Given the description of an element on the screen output the (x, y) to click on. 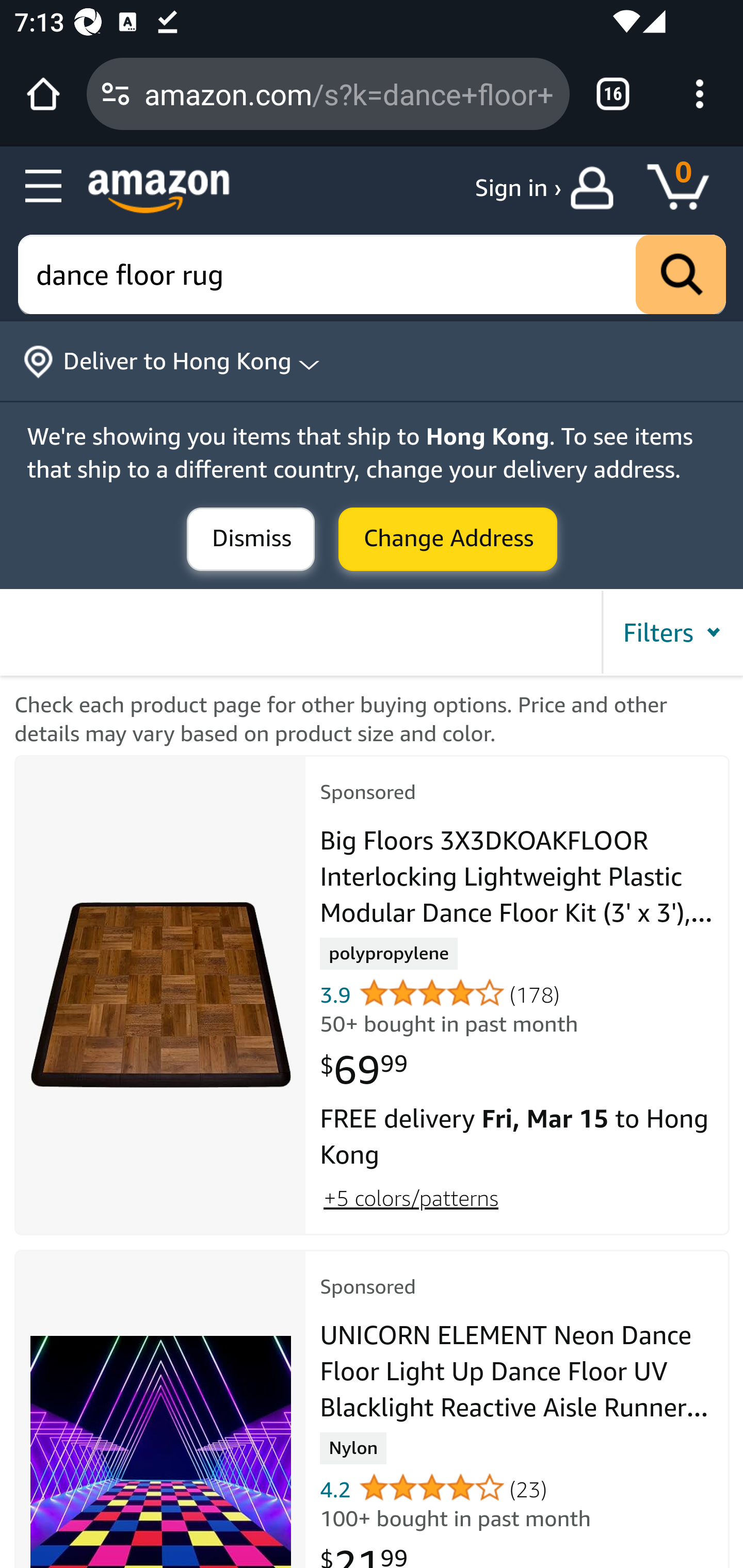
Open the home page (43, 93)
Connection is secure (115, 93)
Switch or close tabs (612, 93)
Customize and control Google Chrome (699, 93)
Open Menu (44, 187)
Sign in › (518, 188)
your account (596, 188)
Cart 0 (687, 188)
Amazon (158, 191)
dance floor rug (372, 275)
Go (681, 275)
Dismiss (250, 539)
Change Address (447, 539)
Filters (671, 632)
+5 colors/patterns (410, 1196)
